Given the description of an element on the screen output the (x, y) to click on. 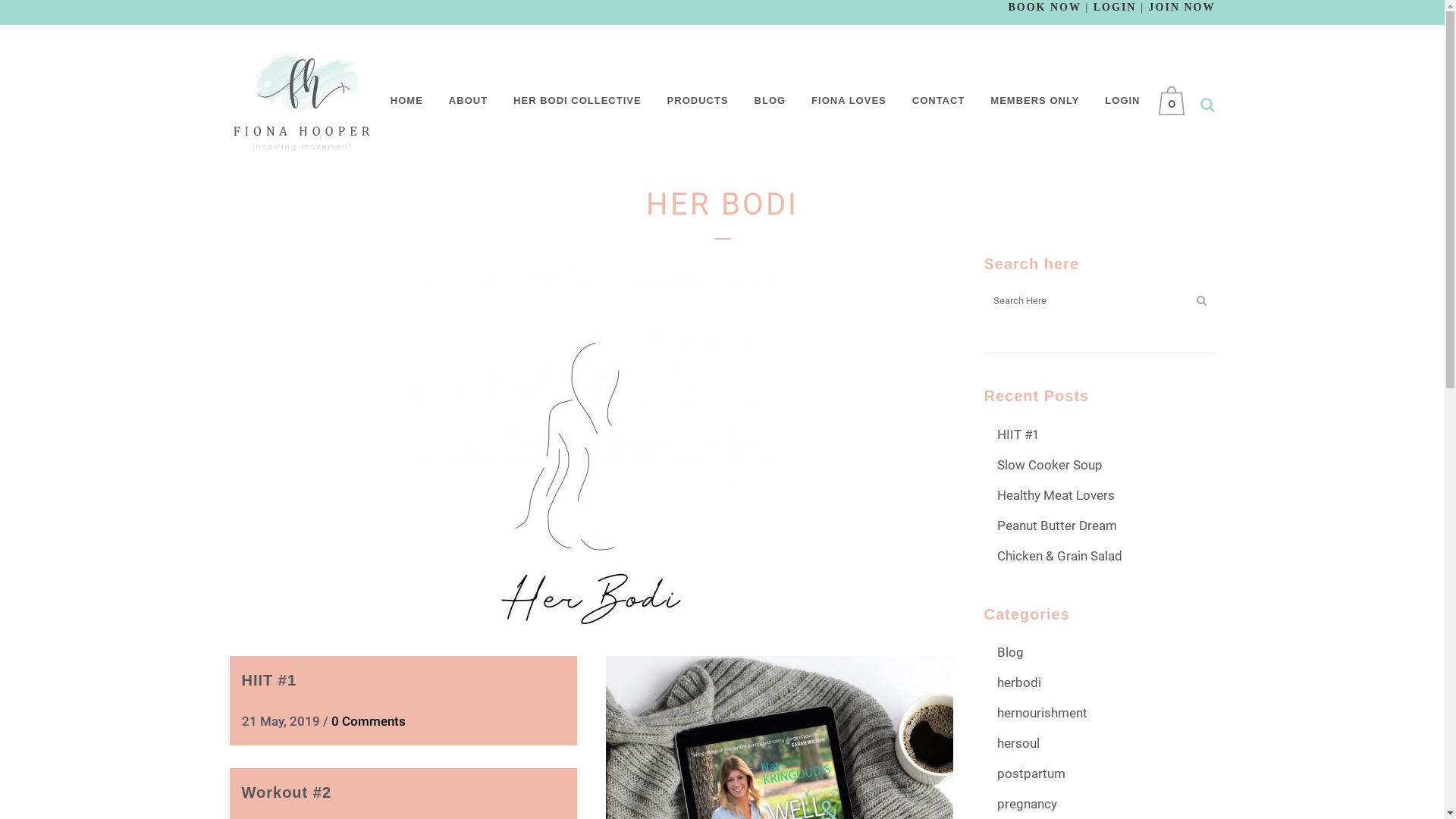
LOGIN Element type: text (1122, 100)
Healthy Meat Lovers Element type: text (1054, 494)
HOME Element type: text (406, 100)
Blog Element type: text (1009, 651)
LOGIN Element type: text (1114, 6)
FIONA LOVES Element type: text (848, 100)
BLOG Element type: text (770, 100)
Her Bodi Element type: hover (591, 441)
ABOUT Element type: text (468, 100)
JOIN NOW Element type: text (1181, 6)
PRODUCTS Element type: text (697, 100)
postpartum Element type: text (1030, 773)
HIIT #1 Element type: text (268, 679)
Slow Cooker Soup Element type: text (1048, 464)
0 Comments Element type: text (367, 720)
Peanut Butter Dream Element type: text (1056, 525)
hernourishment Element type: text (1041, 712)
herbodi Element type: text (1018, 682)
HIIT #1 Element type: text (1017, 434)
MEMBERS ONLY Element type: text (1034, 100)
CONTACT Element type: text (938, 100)
Chicken & Grain Salad Element type: text (1058, 555)
Workout #2 Element type: text (286, 792)
hersoul Element type: text (1017, 742)
0 Element type: text (1174, 100)
BOOK NOW Element type: text (1043, 6)
HER BODI COLLECTIVE Element type: text (577, 100)
pregnancy Element type: text (1026, 803)
